Given the description of an element on the screen output the (x, y) to click on. 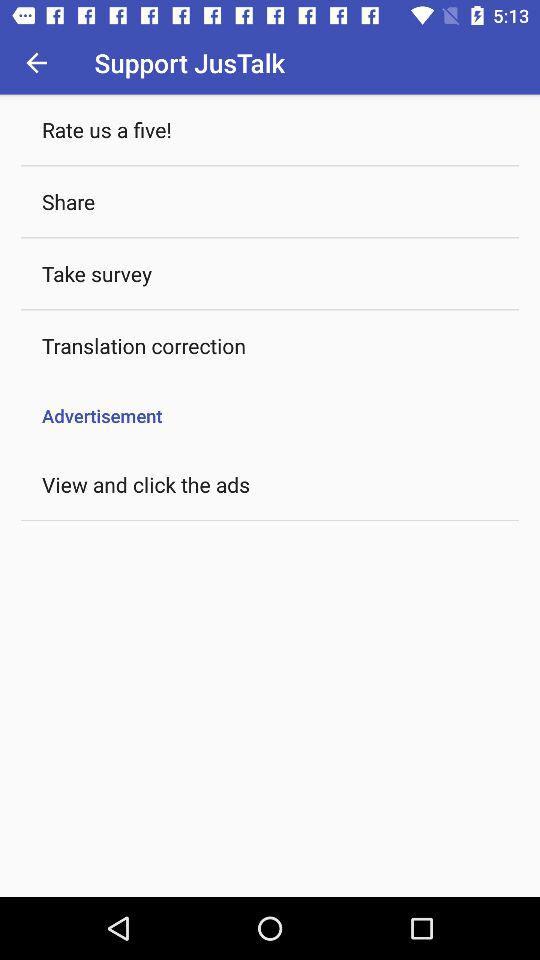
tap icon above rate us a item (36, 62)
